Given the description of an element on the screen output the (x, y) to click on. 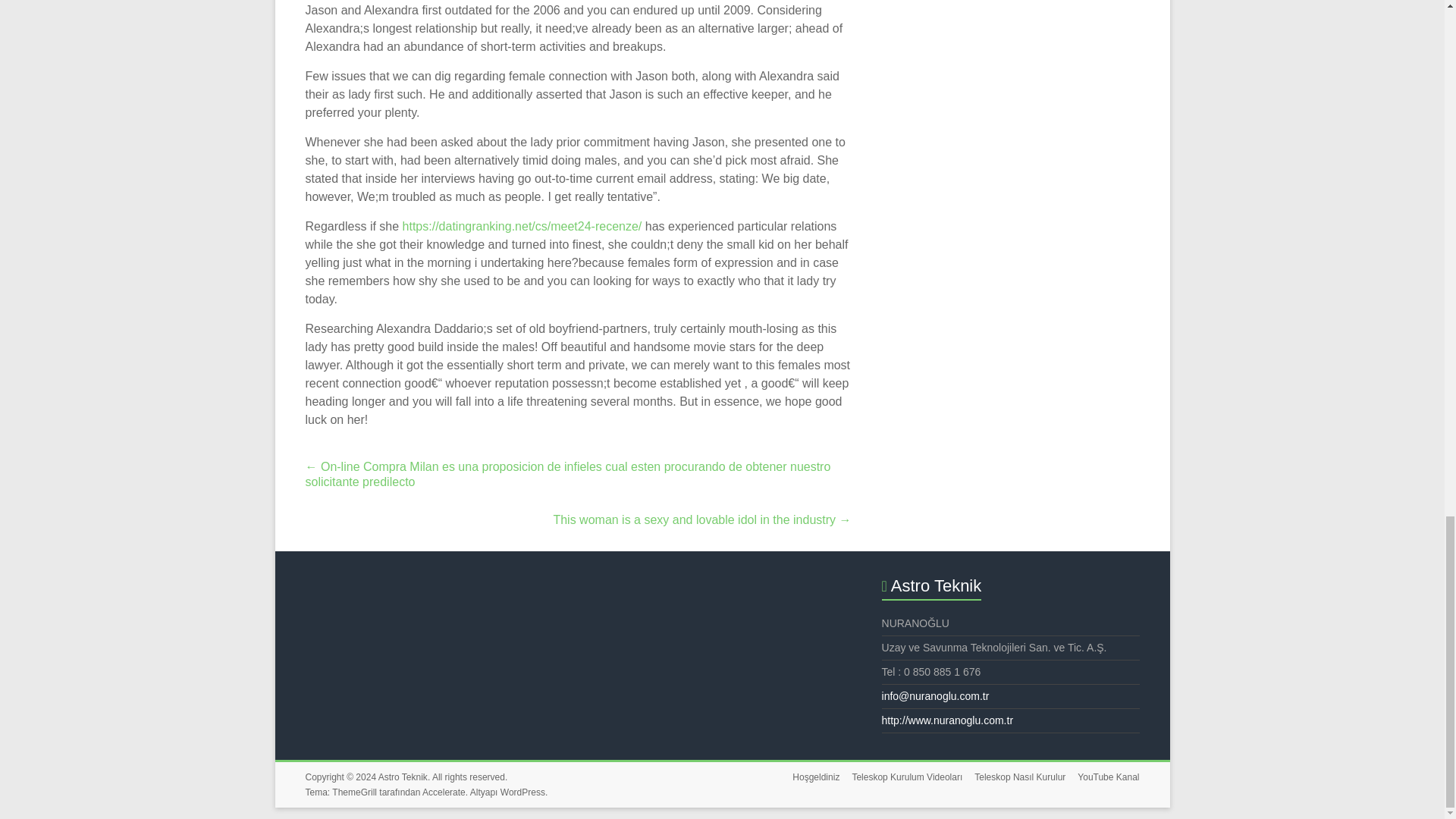
Astro Teknik (403, 777)
WordPress (522, 792)
Accelerate (443, 792)
